Given the description of an element on the screen output the (x, y) to click on. 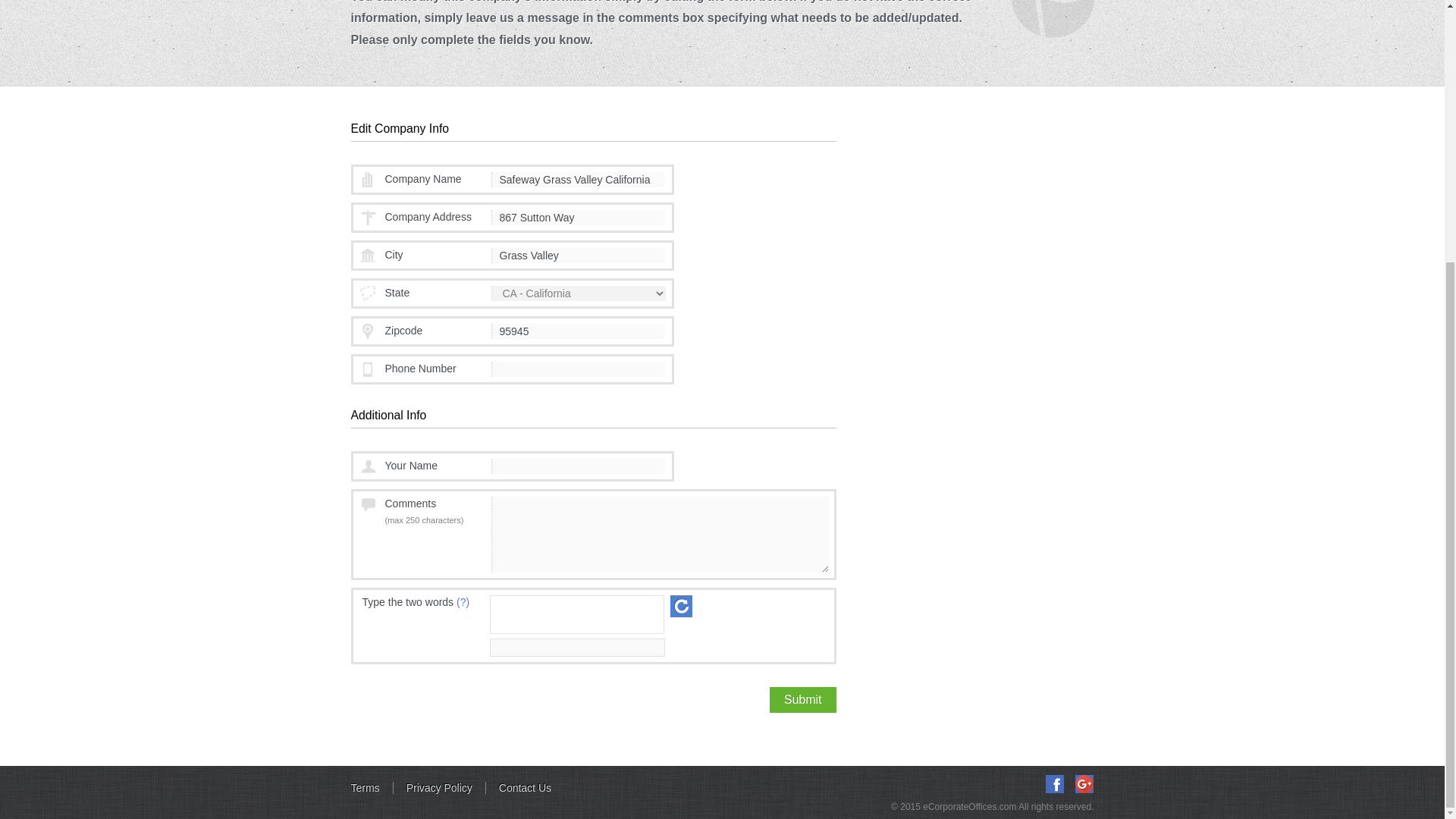
Safeway Grass Valley California (578, 179)
95945 (578, 331)
867 Sutton Way (578, 217)
Submit (802, 699)
Terms (371, 787)
Grass Valley (578, 255)
Privacy Policy (439, 787)
Follow us on Facebook (1053, 783)
Contact Us (525, 787)
